Given the description of an element on the screen output the (x, y) to click on. 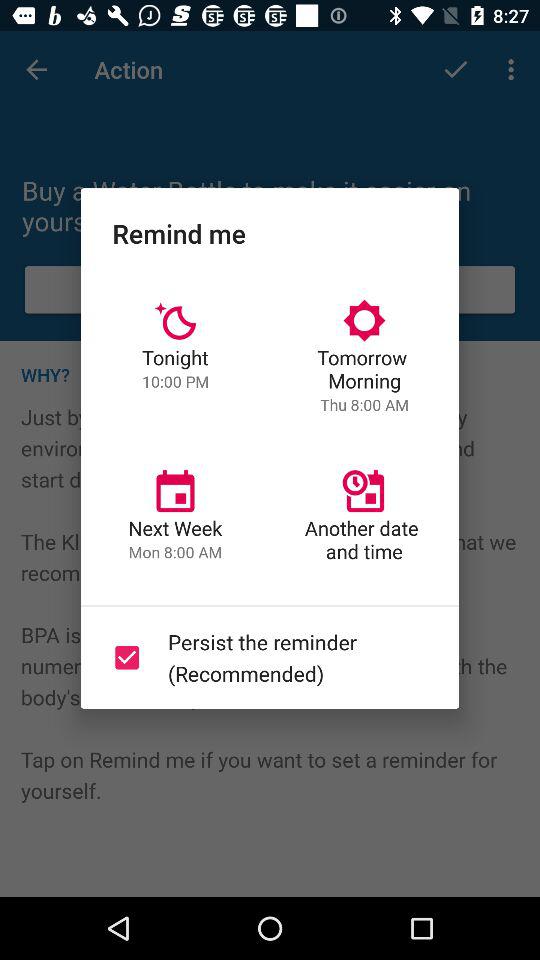
scroll to the persist the reminder item (265, 657)
